Given the description of an element on the screen output the (x, y) to click on. 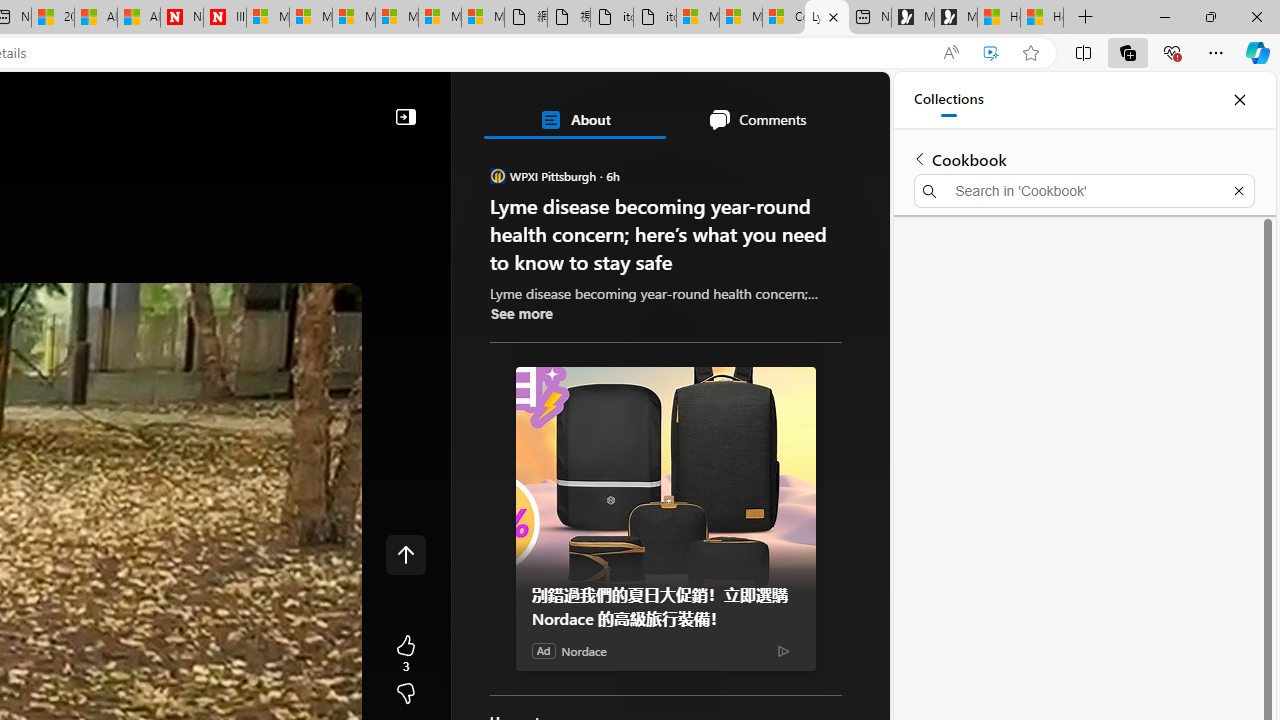
Microsoft rewards (764, 105)
Notifications (804, 105)
